Given the description of an element on the screen output the (x, y) to click on. 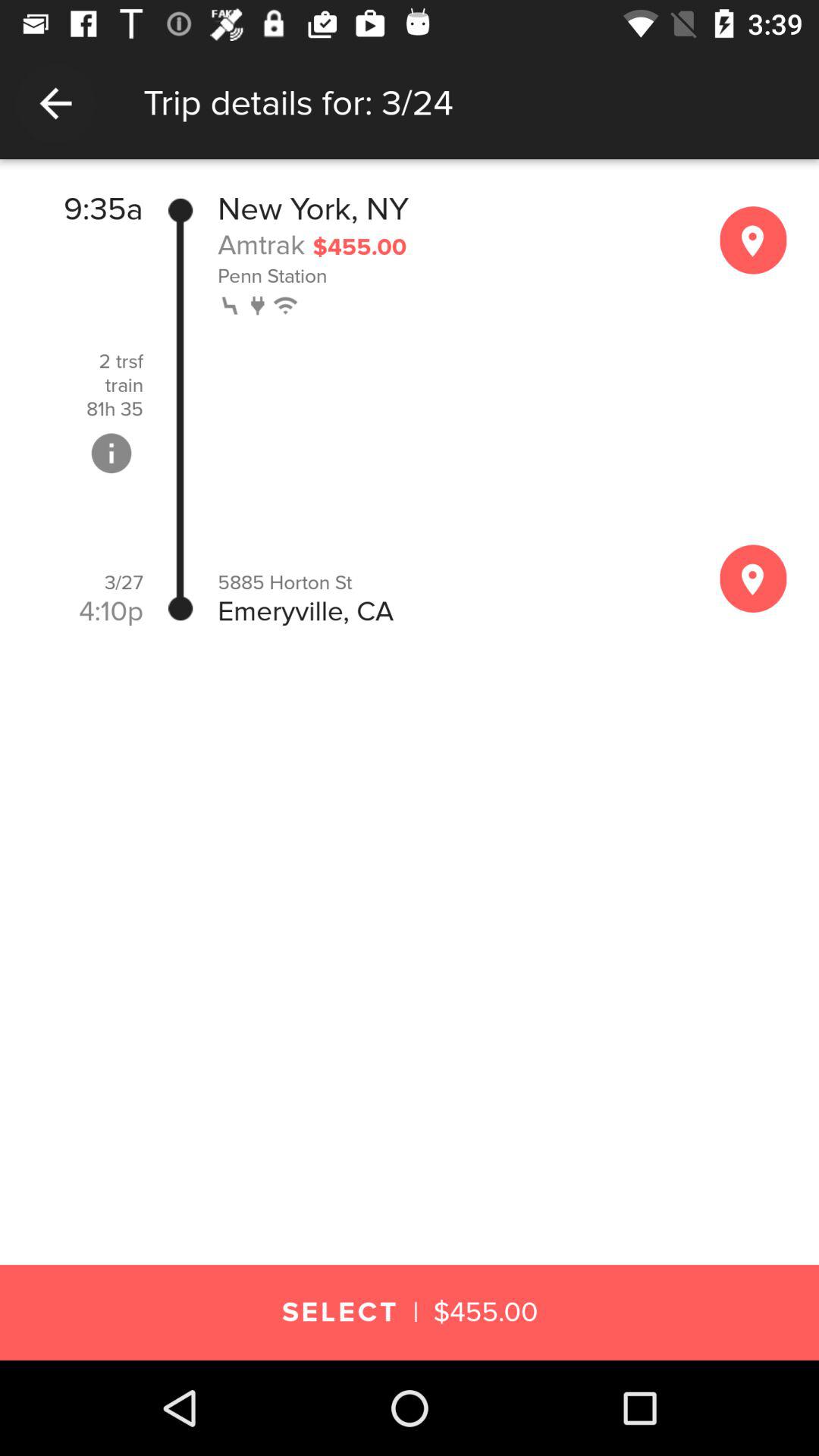
click penn station (452, 274)
